Given the description of an element on the screen output the (x, y) to click on. 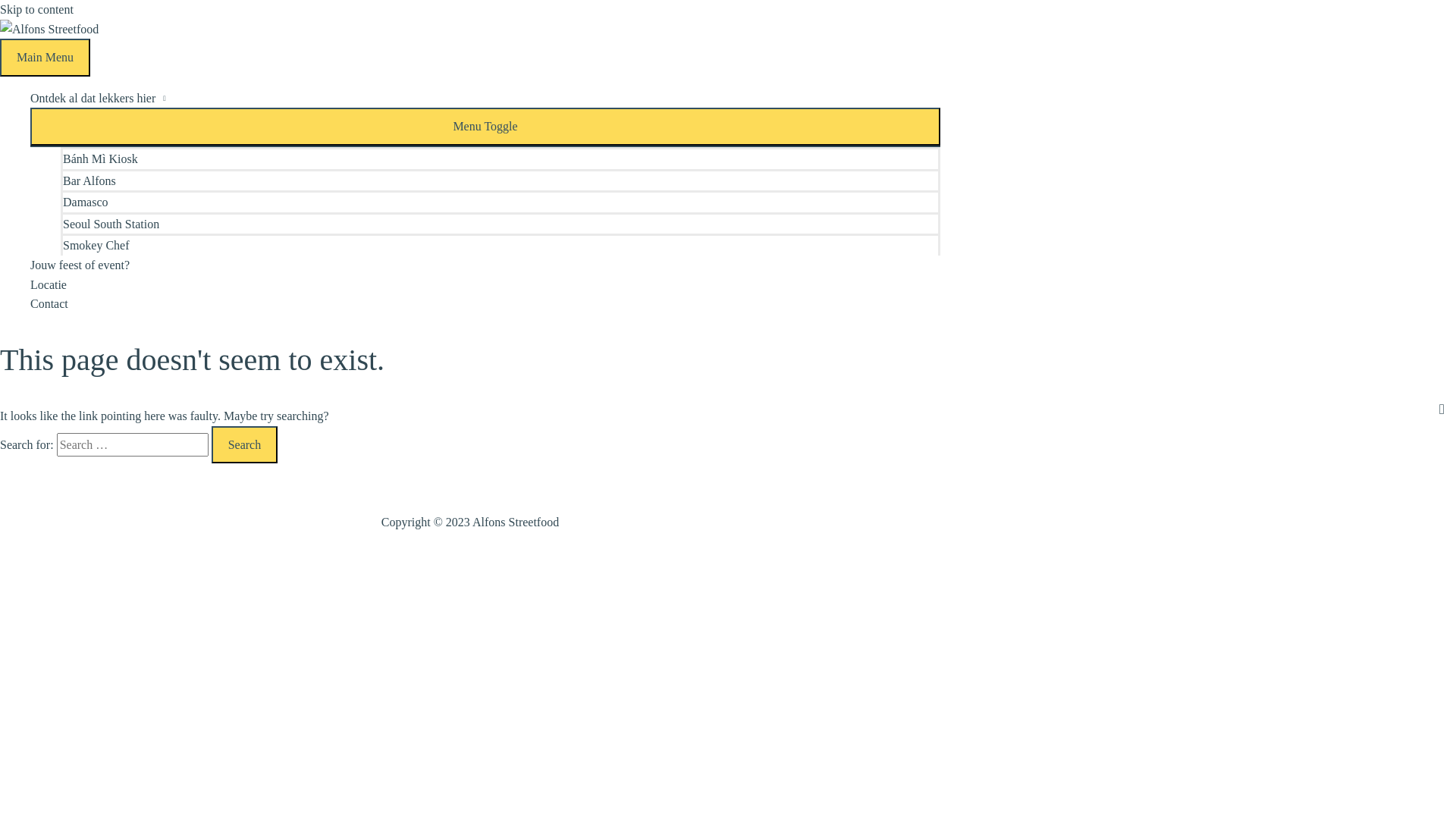
Main Menu Element type: text (45, 57)
Smokey Chef Element type: text (500, 244)
Bar Alfons Element type: text (500, 180)
Menu Toggle Element type: text (485, 126)
Contact Element type: text (485, 303)
Damasco Element type: text (500, 201)
Seoul South Station Element type: text (500, 223)
Search Element type: text (244, 445)
Jouw feest of event? Element type: text (485, 265)
Locatie Element type: text (485, 284)
Ontdek al dat lekkers hier Element type: text (485, 98)
Skip to content Element type: text (36, 9)
